Given the description of an element on the screen output the (x, y) to click on. 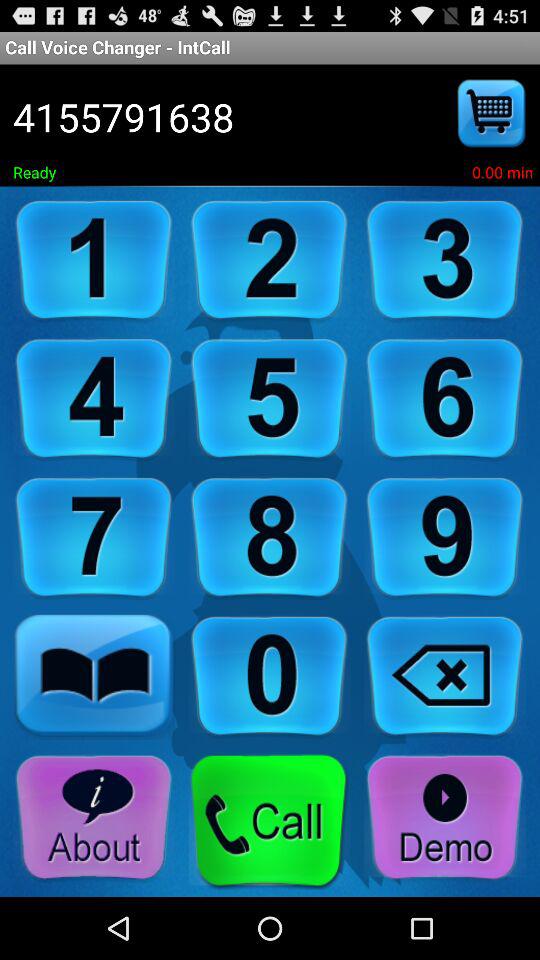
dial the number five (269, 399)
